Given the description of an element on the screen output the (x, y) to click on. 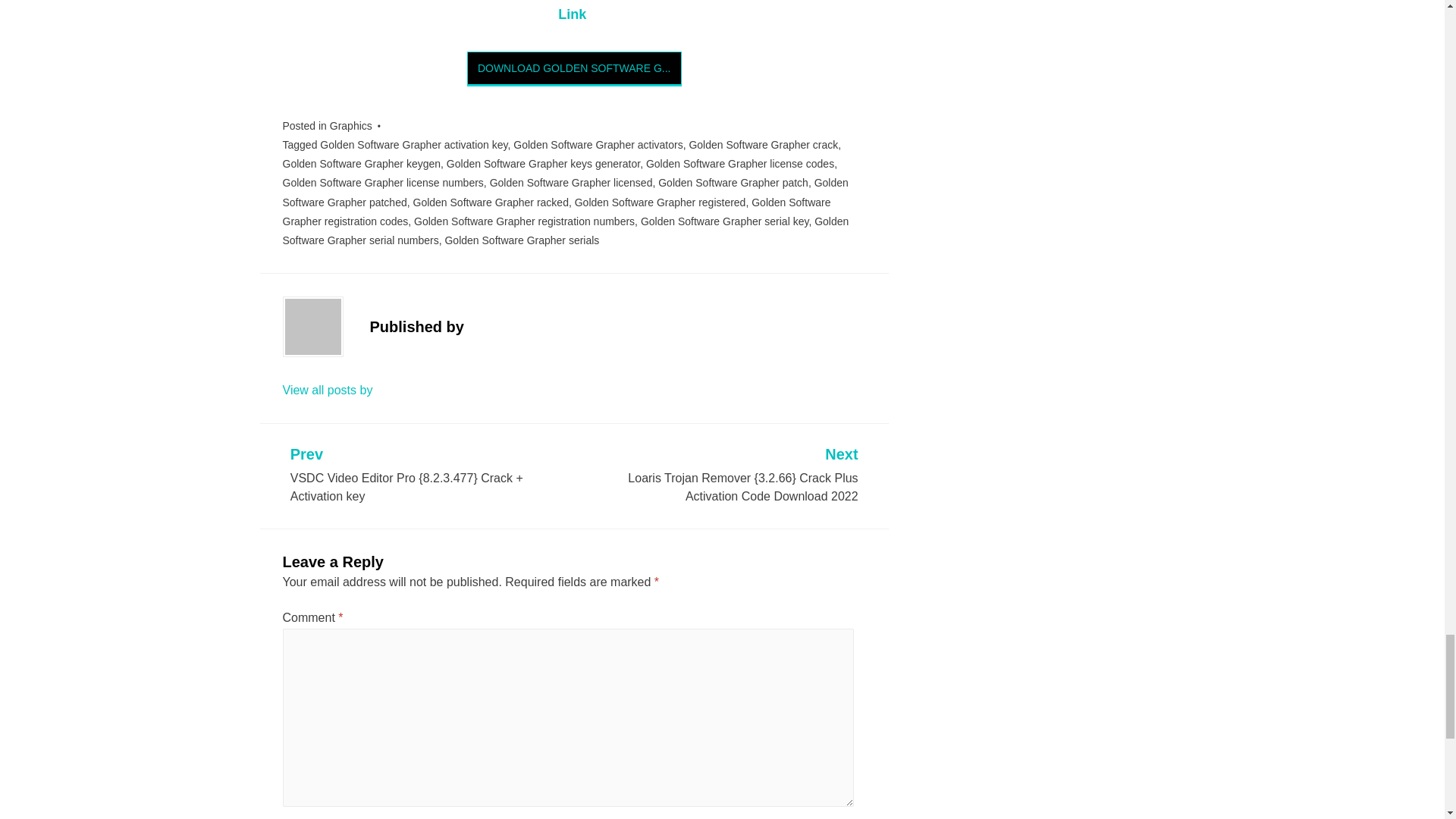
Golden Software Grapher activation key (413, 144)
Link  (573, 14)
Graphics (351, 125)
DOWNLOAD GOLDEN SOFTWARE G... (574, 68)
DOWNLOAD GOLDEN SOFTWARE G... (574, 68)
